Given the description of an element on the screen output the (x, y) to click on. 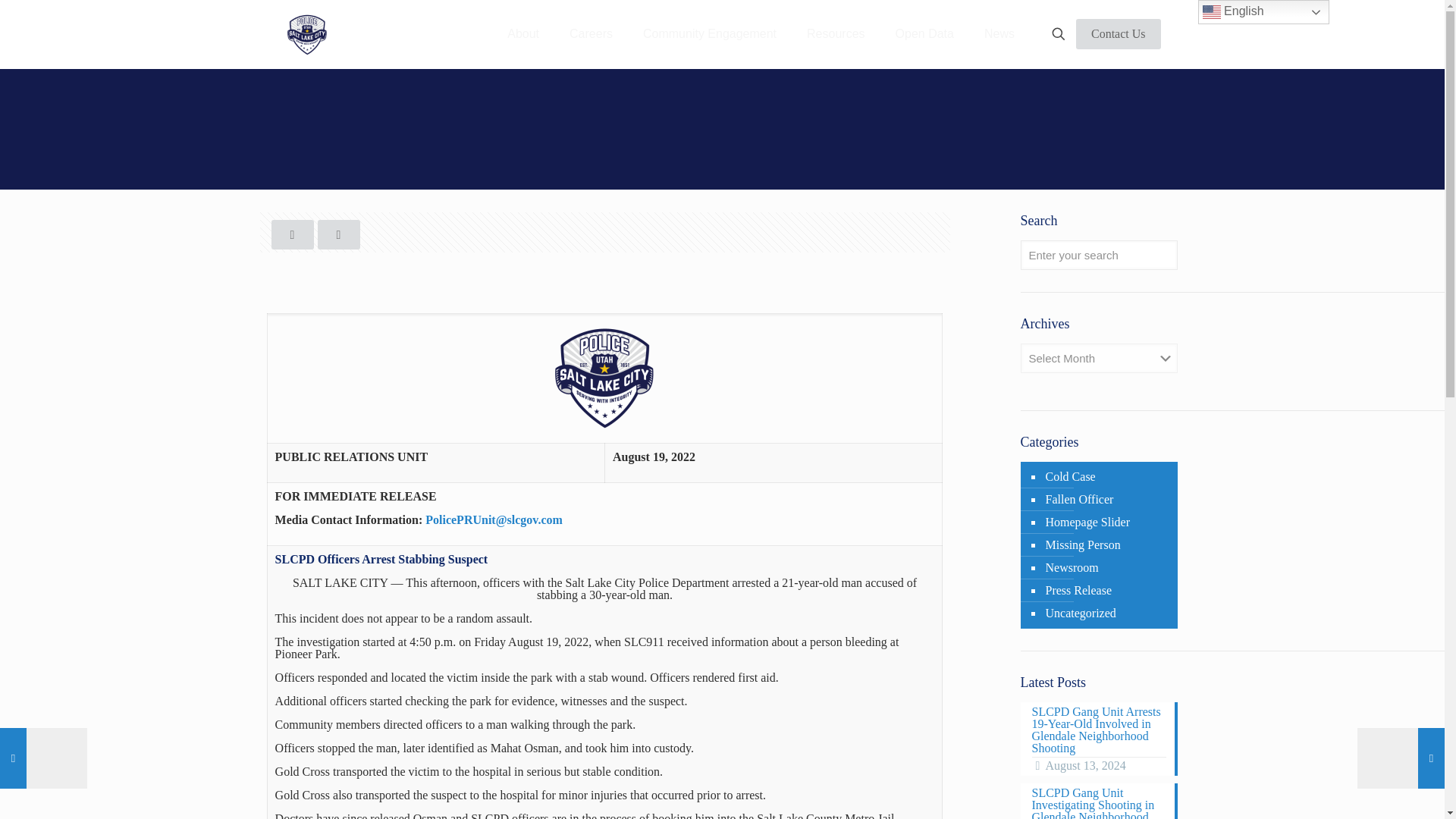
Resources (835, 33)
Careers (590, 33)
Community Engagement (709, 33)
About (523, 33)
